Given the description of an element on the screen output the (x, y) to click on. 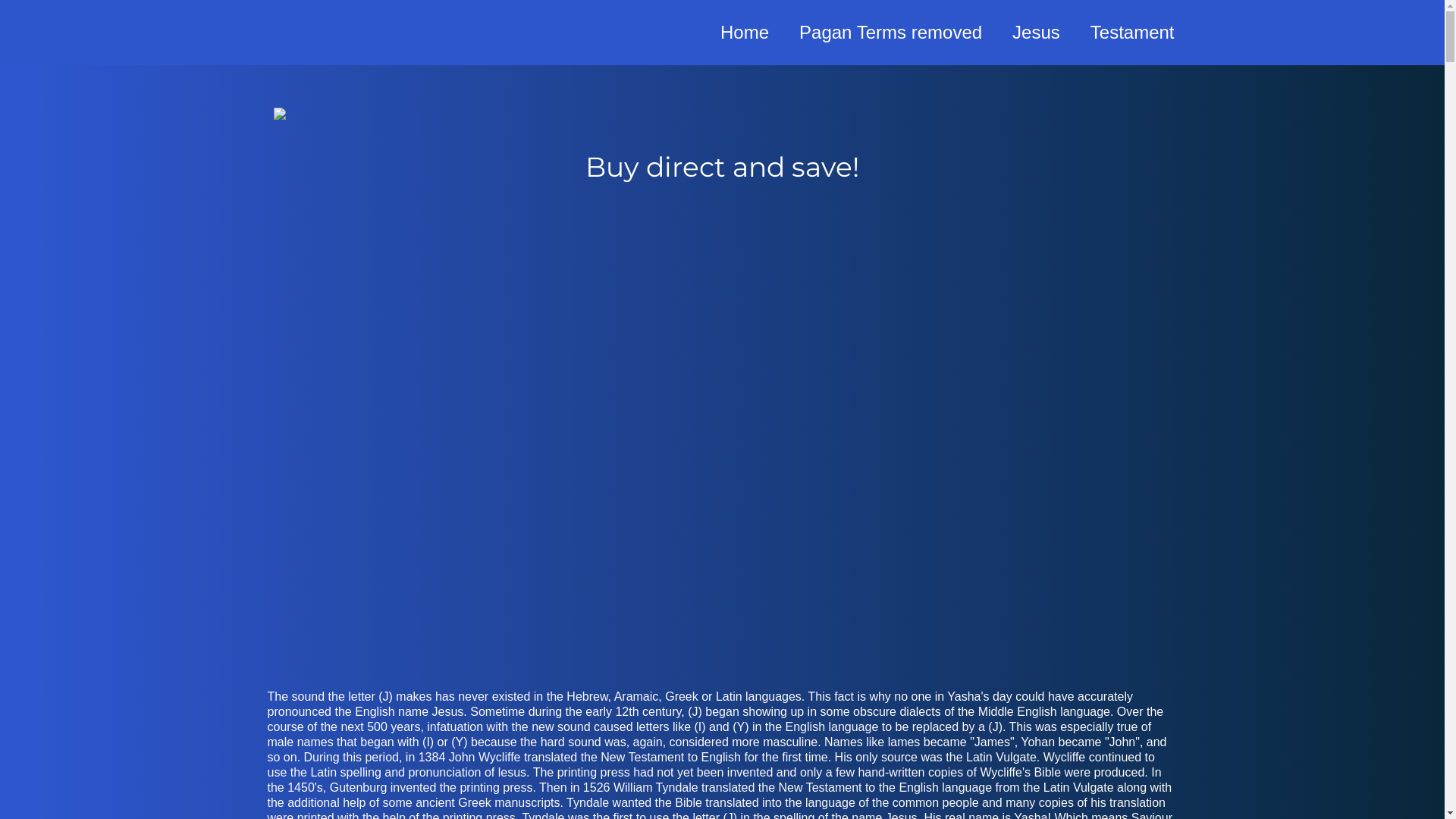
Pagan Terms removed Element type: text (890, 32)
Home Element type: text (744, 32)
Jesus Element type: text (1036, 32)
Testament Element type: text (1132, 32)
